Given the description of an element on the screen output the (x, y) to click on. 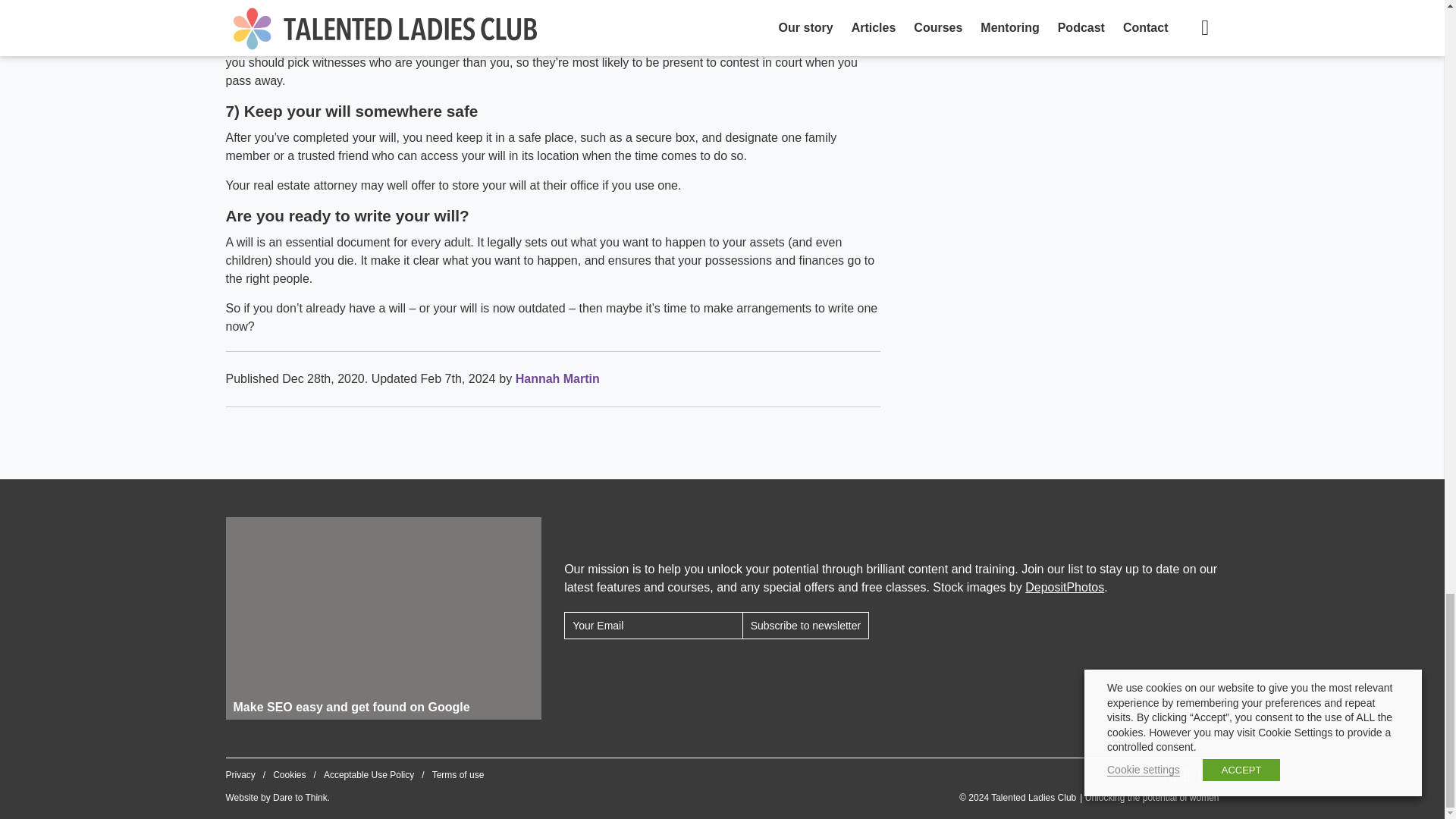
Talented Ladies Club on Twitter (1187, 774)
Talented Ladies Club (1088, 797)
Subscribe to newsletter (805, 625)
Website design and development services from Dare to Think (300, 797)
Talented Ladies Club on Facebook (1172, 774)
Talented Ladies Club on Instagram (1216, 774)
Talented Ladies Club on Pinterest (1201, 774)
